Given the description of an element on the screen output the (x, y) to click on. 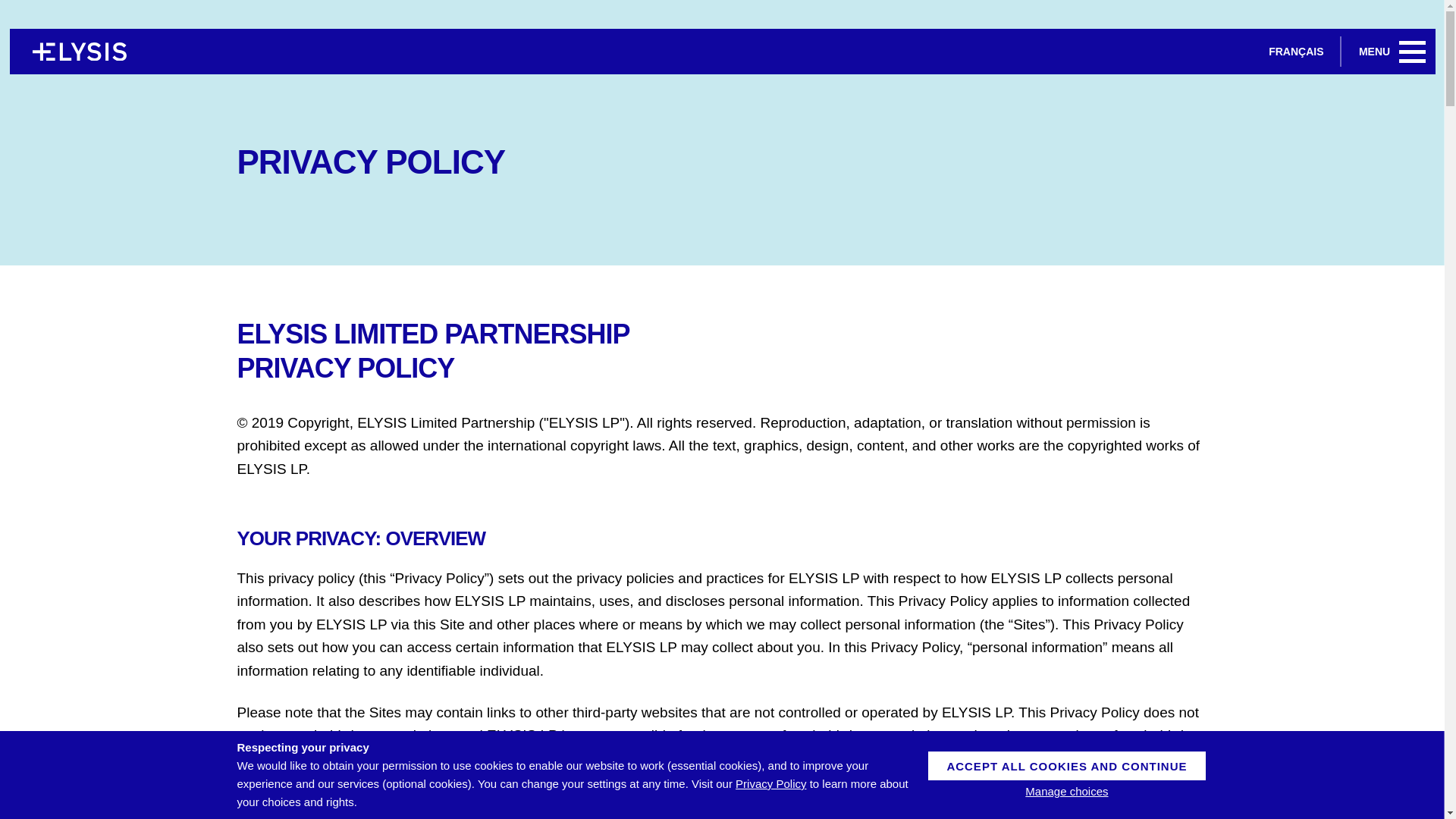
Privacy Policy (770, 783)
Manage choices (1066, 791)
